Given the description of an element on the screen output the (x, y) to click on. 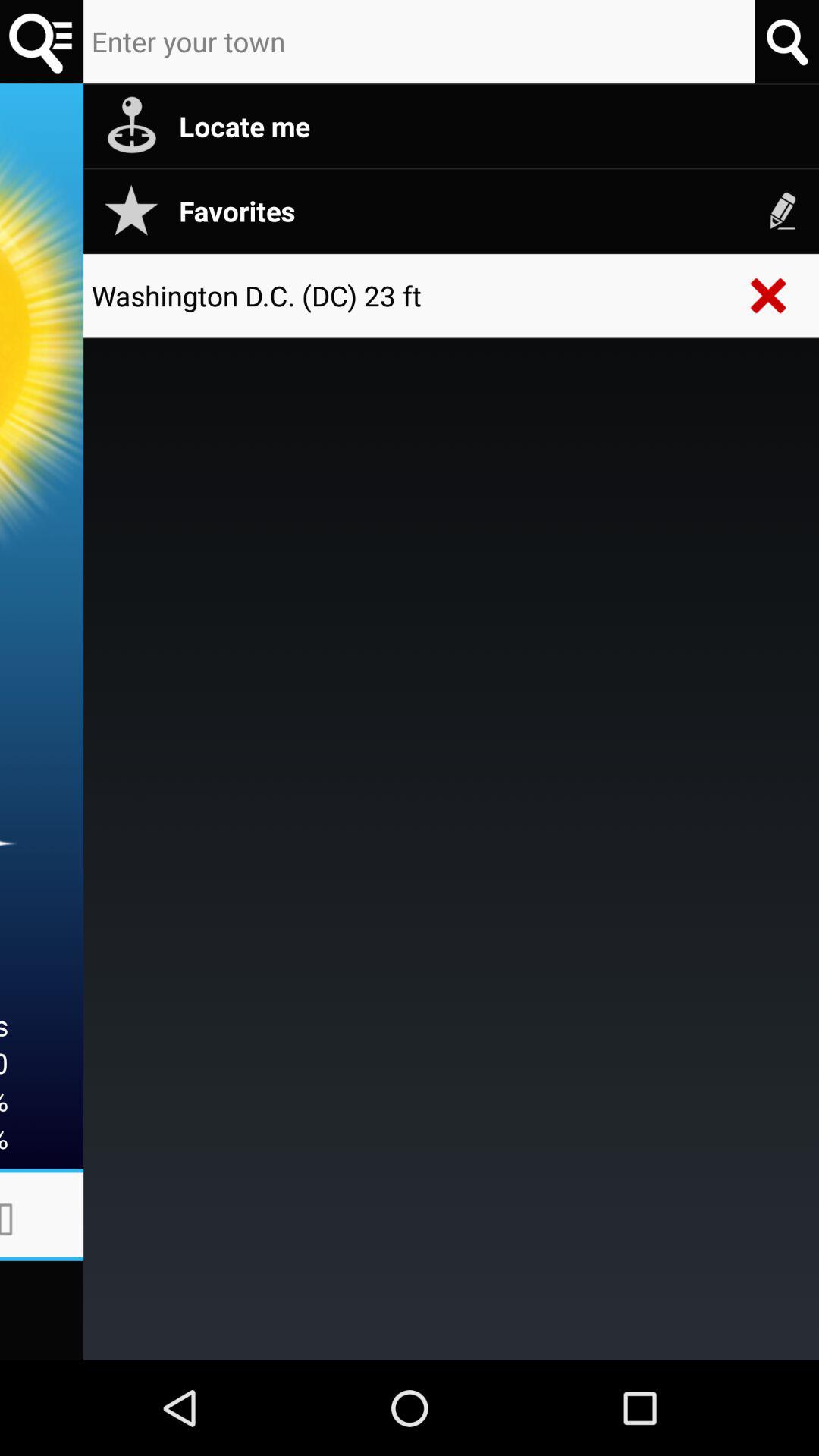
choose item below the locate me app (491, 210)
